Given the description of an element on the screen output the (x, y) to click on. 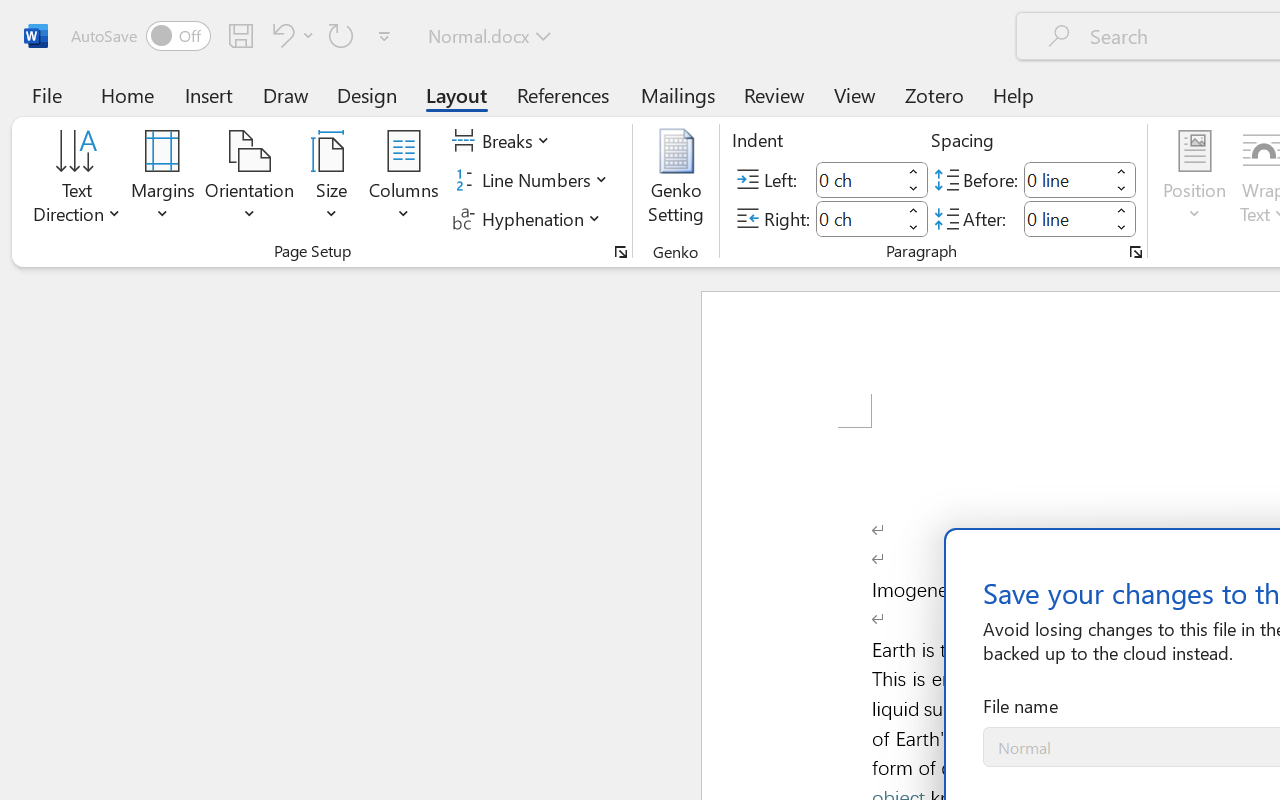
Paragraph... (1135, 252)
Undo Paste Destination Formatting (280, 35)
Position (1194, 179)
Hyphenation (529, 218)
Breaks (504, 141)
Columns (404, 179)
Page Setup... (621, 252)
